Given the description of an element on the screen output the (x, y) to click on. 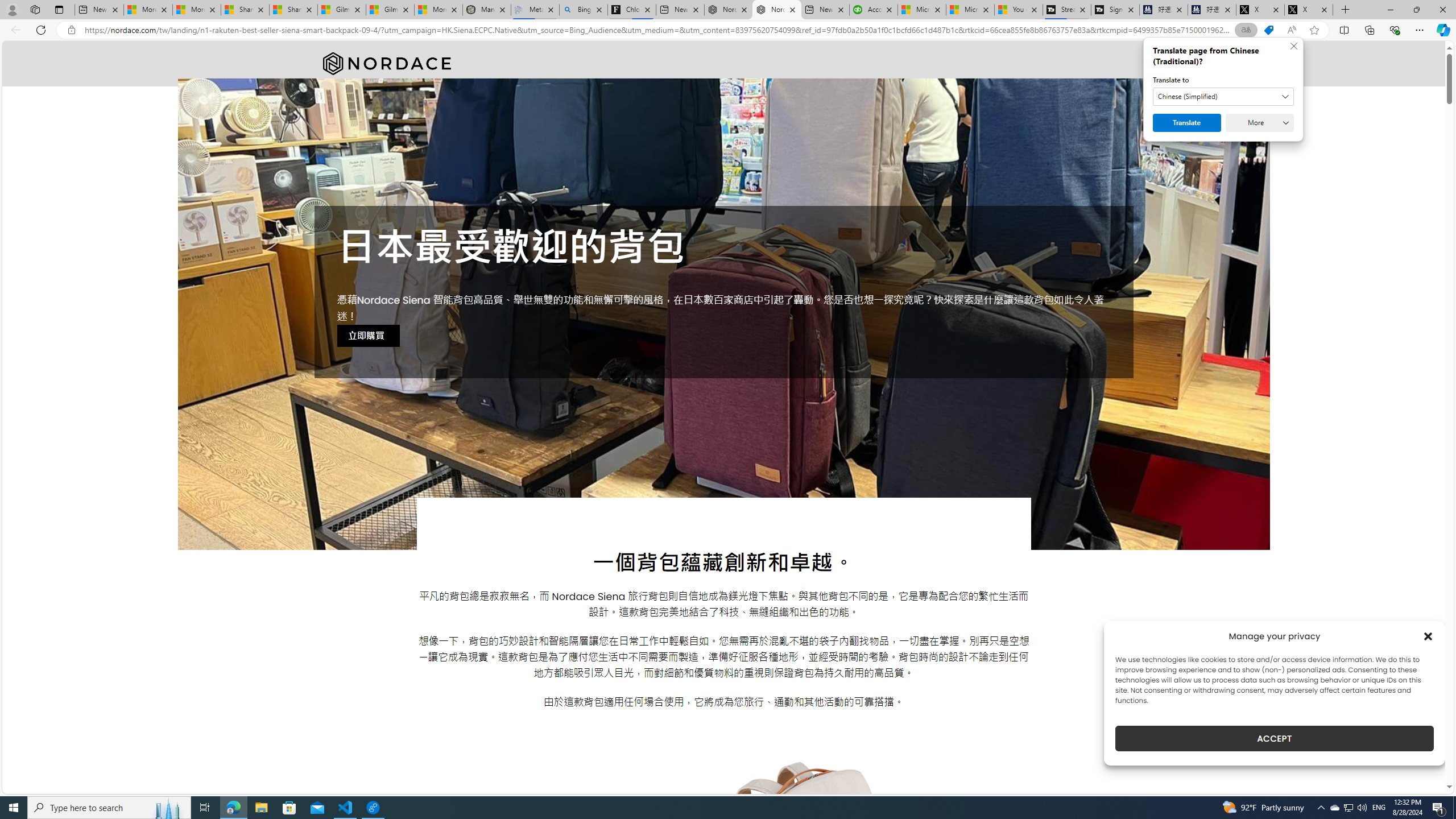
Manatee Mortality Statistics | FWC (486, 9)
Class: cmplz-close (1428, 636)
Translate to (1223, 96)
